Given the description of an element on the screen output the (x, y) to click on. 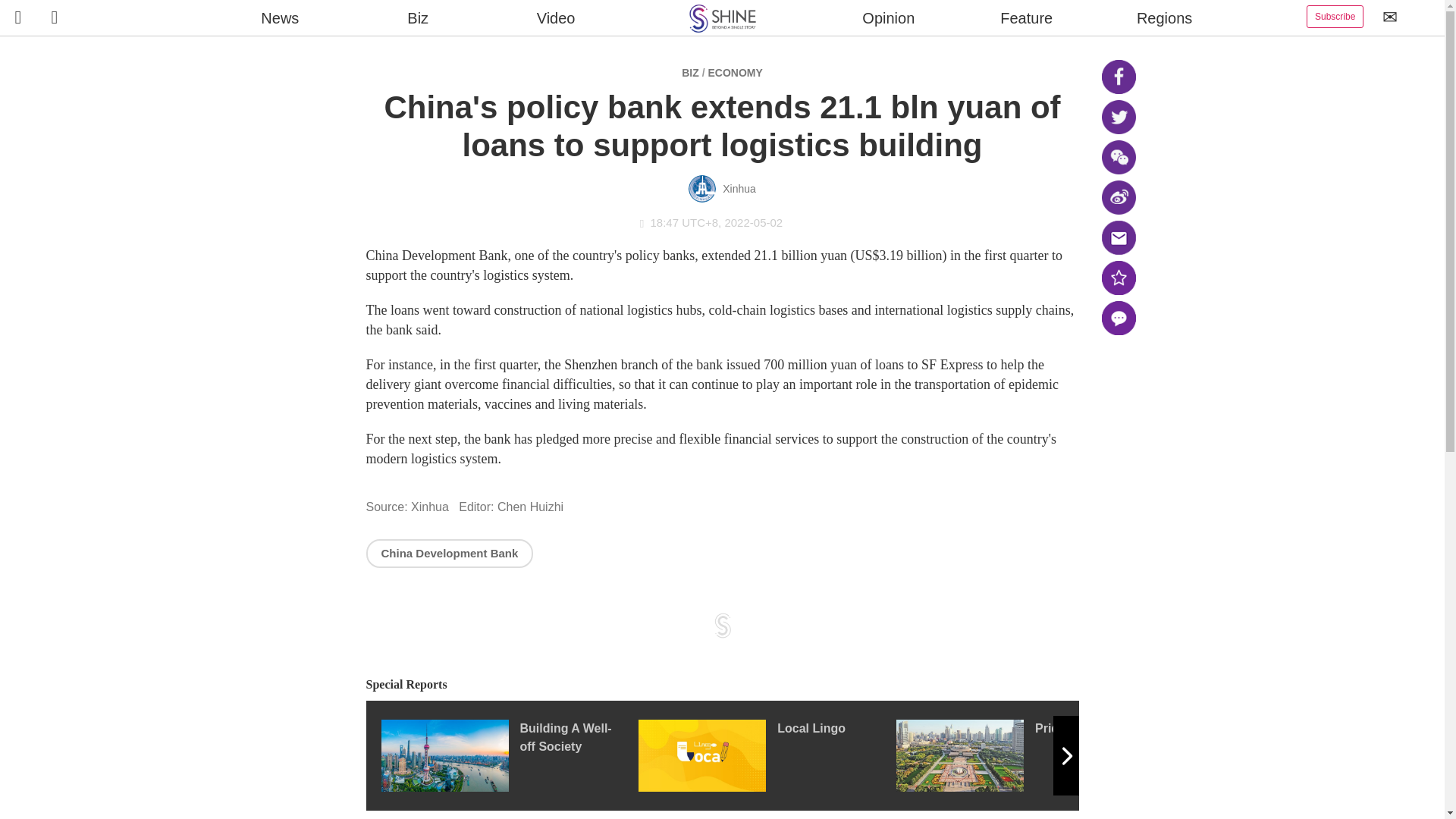
Special Reports (721, 684)
Local Lingo (767, 755)
Share via email (1117, 237)
BIZ (689, 72)
ECONOMY (734, 72)
Add to favorites (1117, 277)
Building A Well-off Society (508, 755)
Share your comments (1117, 317)
China Development Bank (448, 552)
Pride of Place (1024, 755)
